Given the description of an element on the screen output the (x, y) to click on. 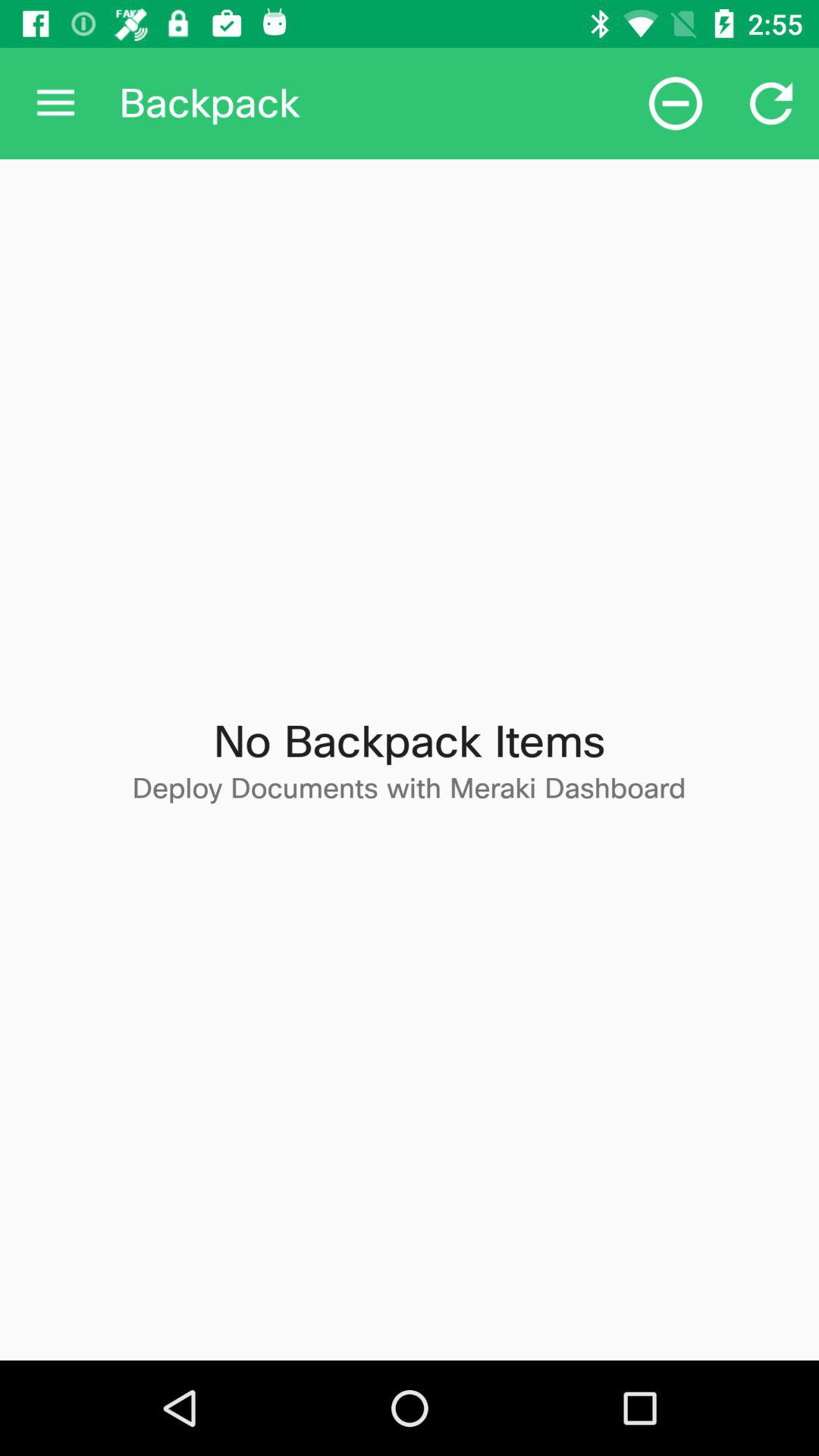
select icon next to backpack app (675, 103)
